Given the description of an element on the screen output the (x, y) to click on. 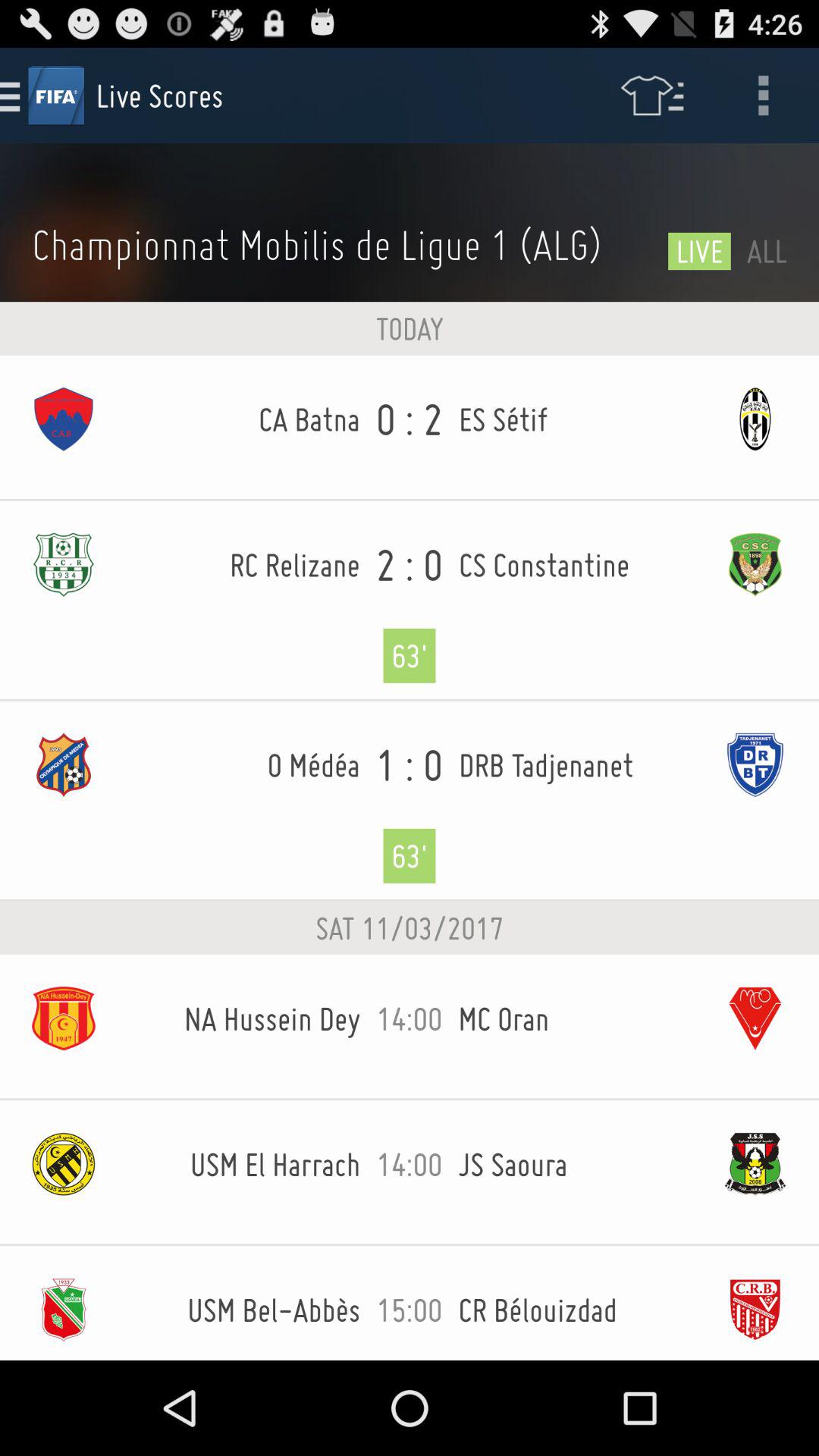
tap item to the right of live icon (766, 250)
